Given the description of an element on the screen output the (x, y) to click on. 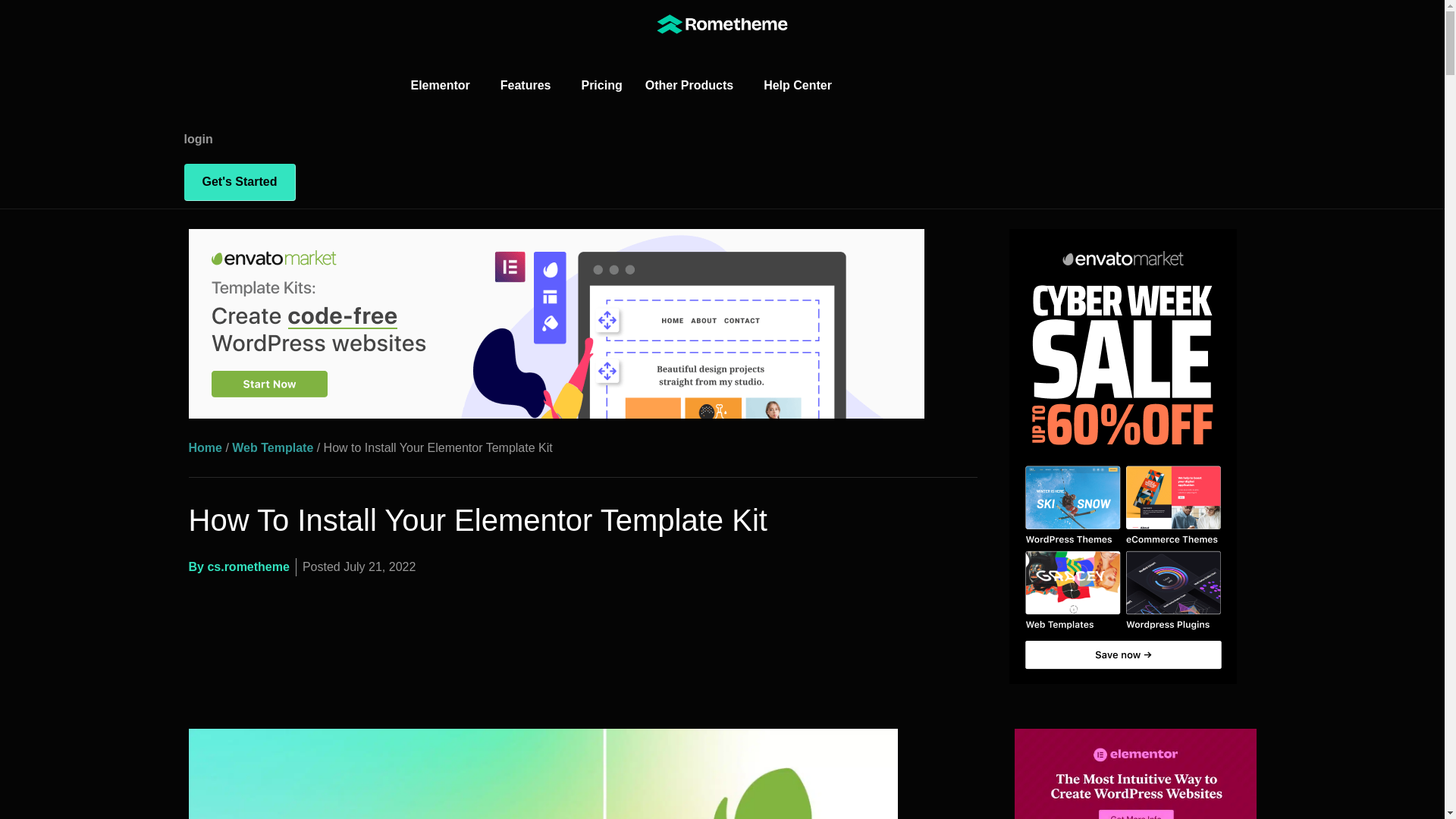
Pricing (601, 85)
Other Products (692, 85)
Elementor (442, 85)
Help Center (801, 85)
Features (529, 85)
